Given the description of an element on the screen output the (x, y) to click on. 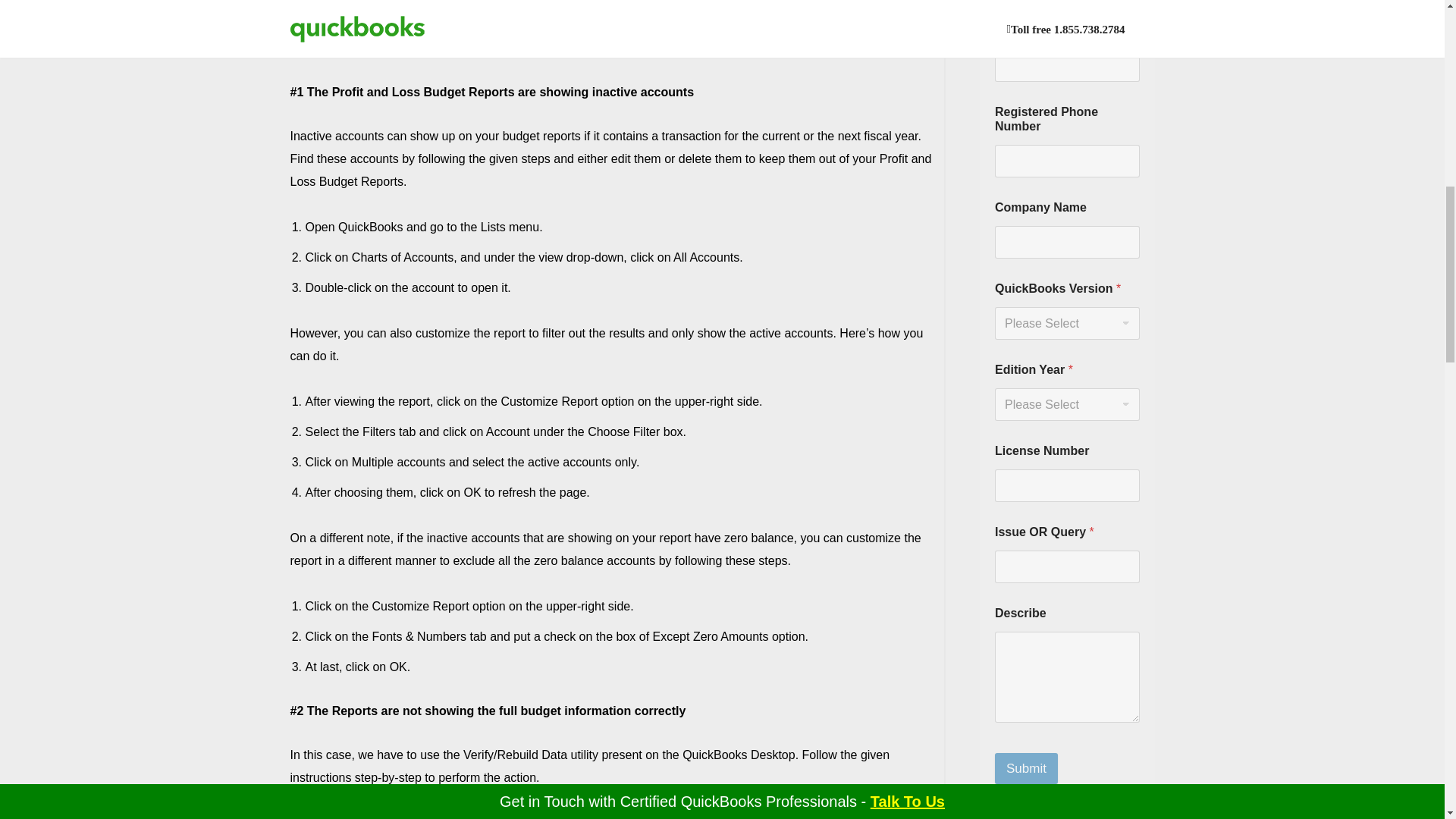
Submit (1026, 767)
